Given the description of an element on the screen output the (x, y) to click on. 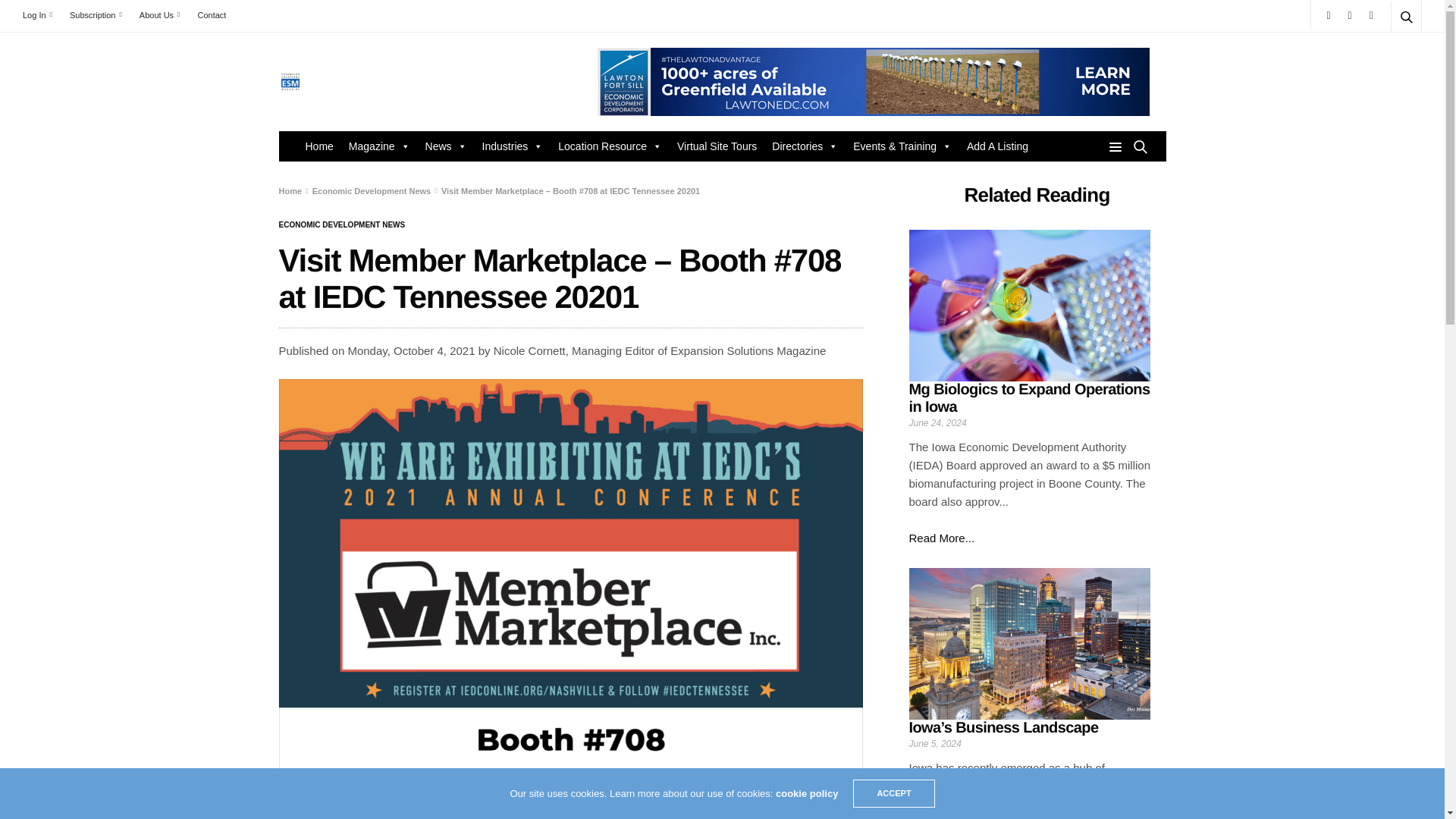
Magazine (378, 146)
About Us (159, 15)
Home (318, 146)
Contact (210, 15)
Search (1386, 53)
News (445, 146)
Log In (41, 15)
Subscription (95, 15)
Economic Development News (342, 225)
